Given the description of an element on the screen output the (x, y) to click on. 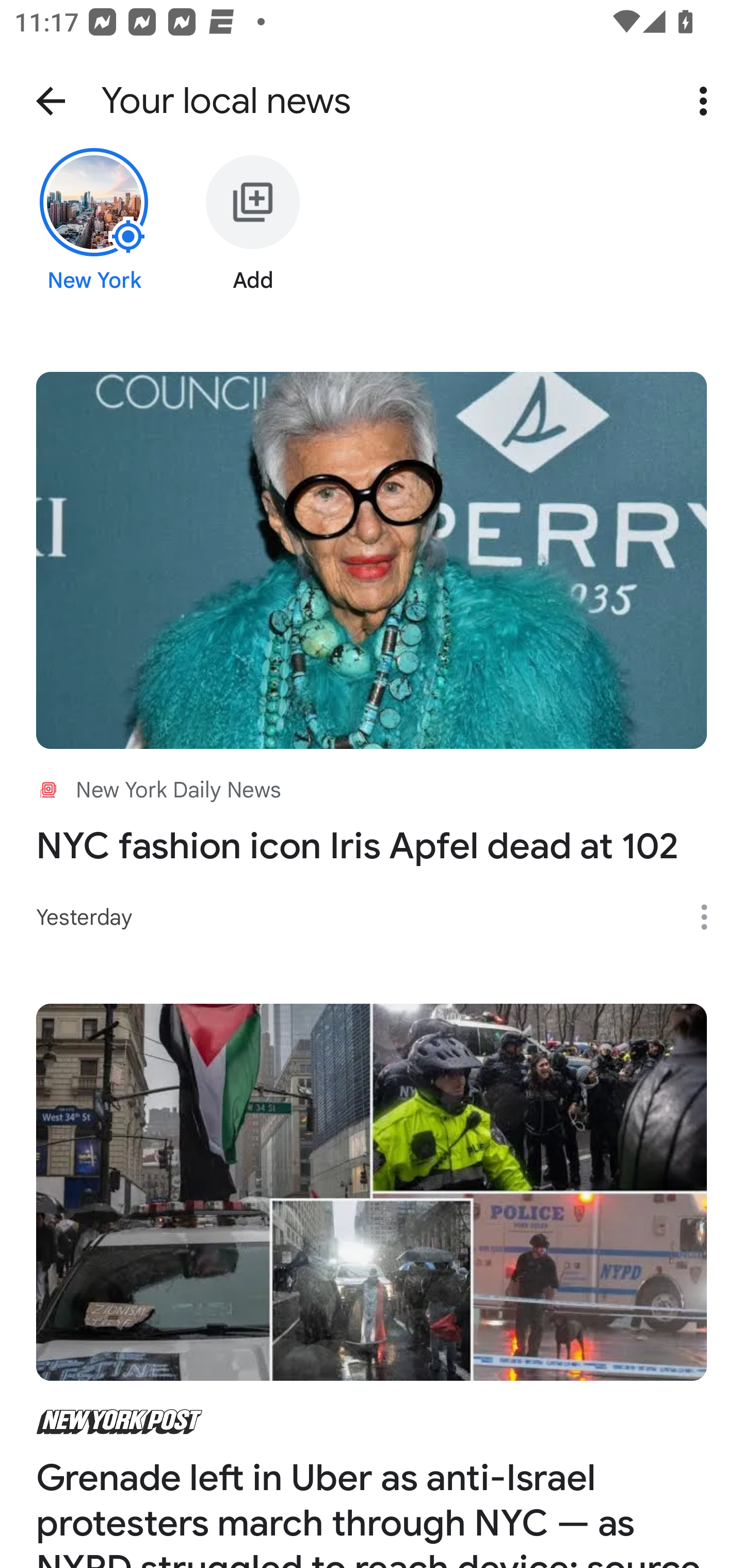
Navigate up (50, 101)
More options (706, 101)
Add (252, 235)
More options (711, 917)
